Given the description of an element on the screen output the (x, y) to click on. 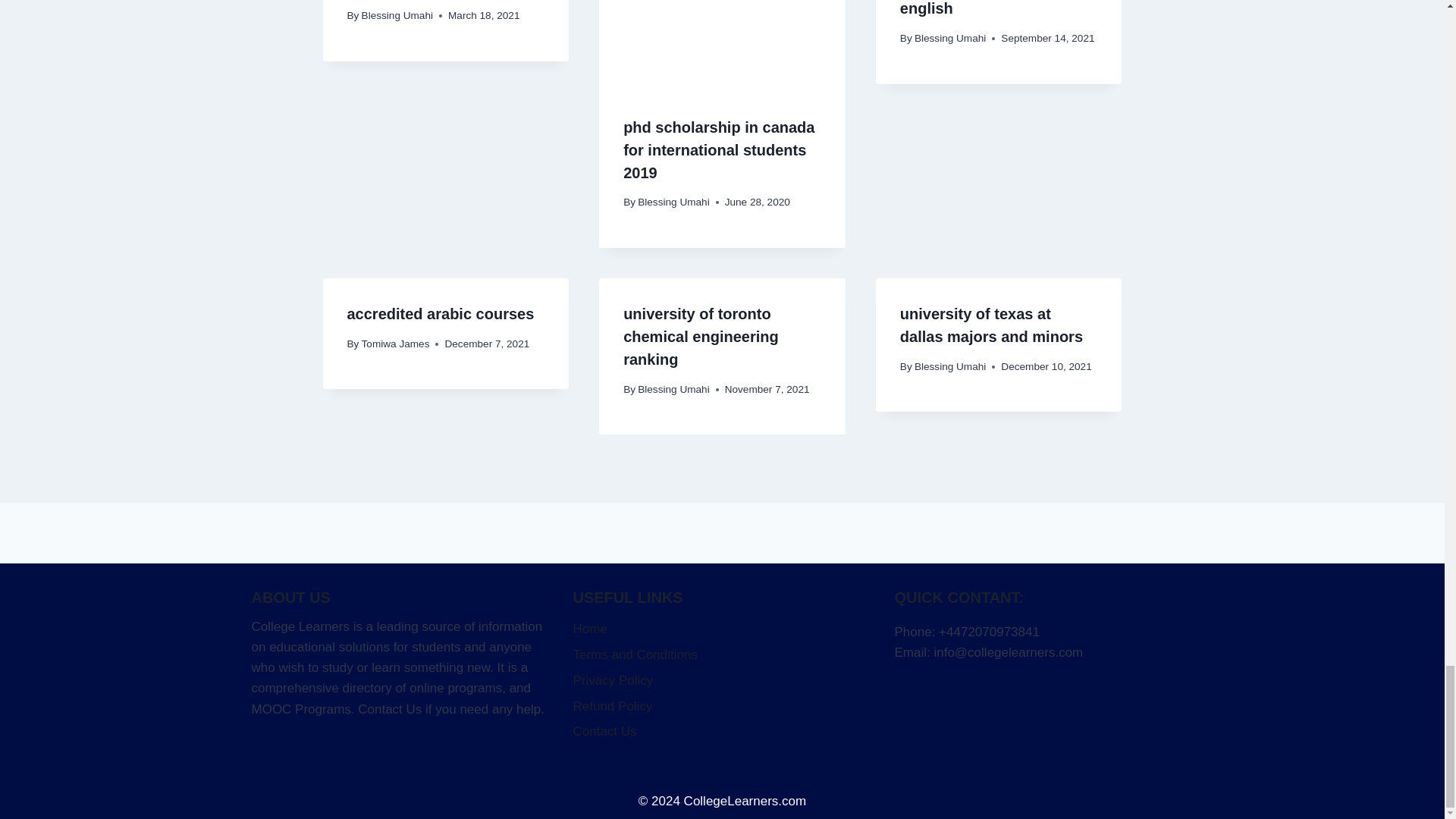
Blessing Umahi (949, 38)
phd scholarship in canada for international students 2019 (718, 149)
Blessing Umahi (396, 15)
Blessing Umahi (673, 202)
rwth aachen mechanical engineering masters in english (987, 8)
